Given the description of an element on the screen output the (x, y) to click on. 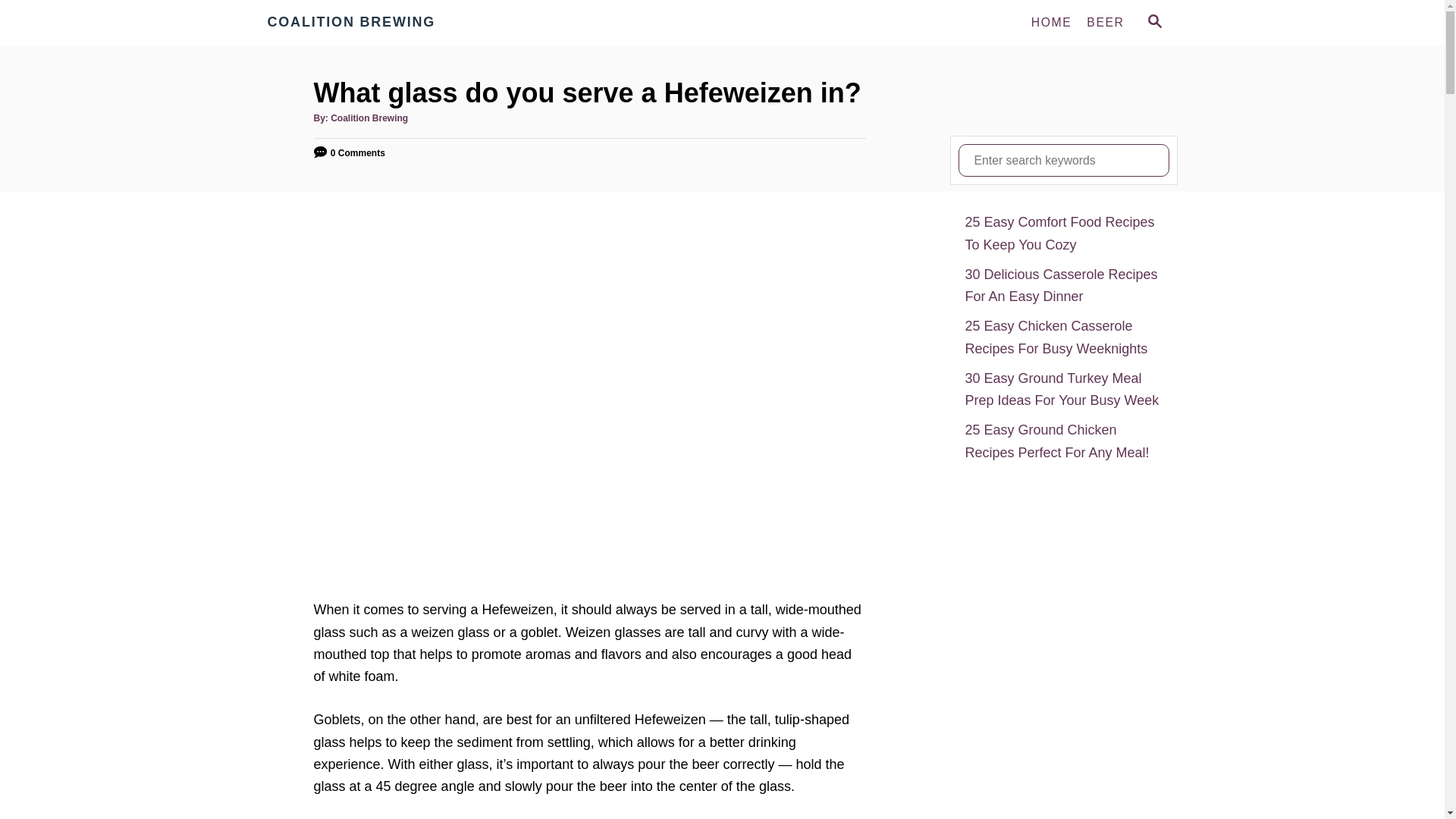
Coalition Brewing (403, 22)
25 Easy Chicken Casserole Recipes For Busy Weeknights (1062, 337)
25 Easy Ground Chicken Recipes Perfect For Any Meal! (1062, 441)
HOME (1051, 22)
25 Easy Comfort Food Recipes To Keep You Cozy (1062, 234)
Coalition Brewing (368, 118)
Search (22, 22)
COALITION BREWING (403, 22)
SEARCH (1153, 22)
BEER (1104, 22)
30 Easy Ground Turkey Meal Prep Ideas For Your Busy Week (1062, 389)
30 Delicious Casserole Recipes For An Easy Dinner (1062, 286)
